Given the description of an element on the screen output the (x, y) to click on. 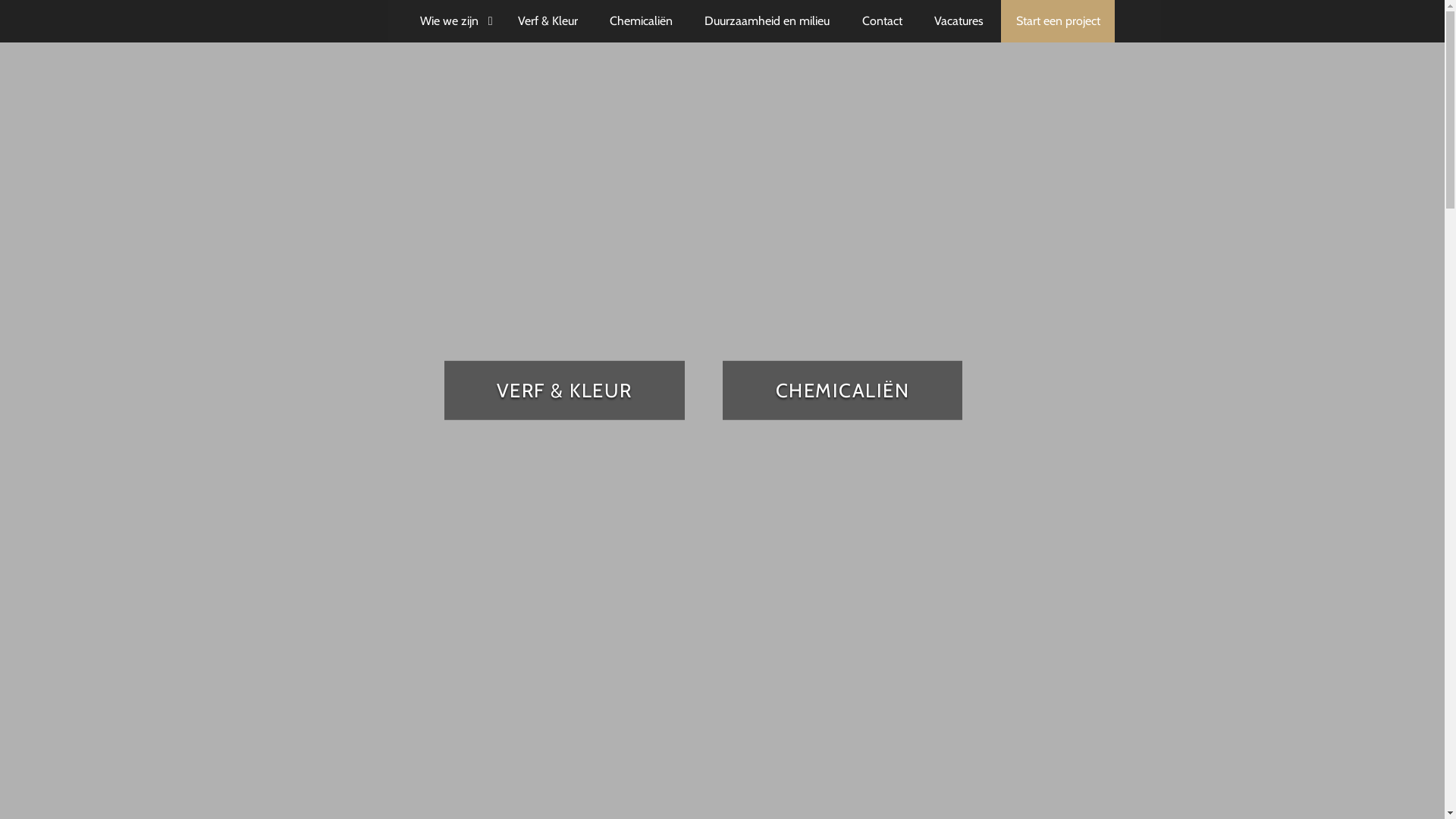
Wie we zijn Element type: text (452, 21)
Duurzaamheid en milieu Element type: text (767, 21)
Contact Element type: text (881, 21)
Verf & Kleur Element type: hover (564, 390)
Bevepe Element type: hover (305, 20)
Verf & Kleur Element type: text (546, 21)
Vacatures Element type: text (958, 21)
Start een project Element type: text (1057, 21)
